Given the description of an element on the screen output the (x, y) to click on. 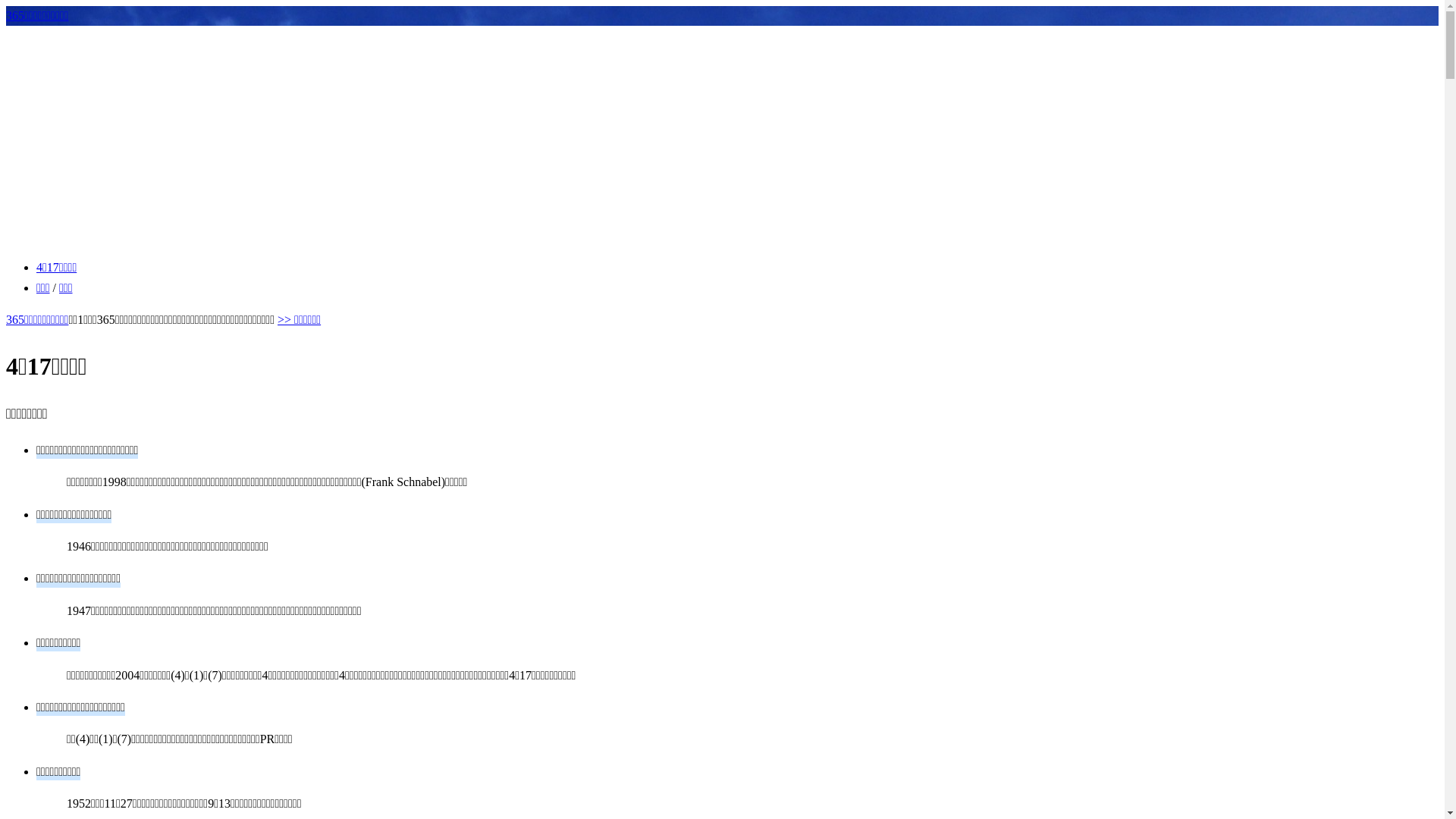
Advertisement Element type: hover (721, 139)
